Given the description of an element on the screen output the (x, y) to click on. 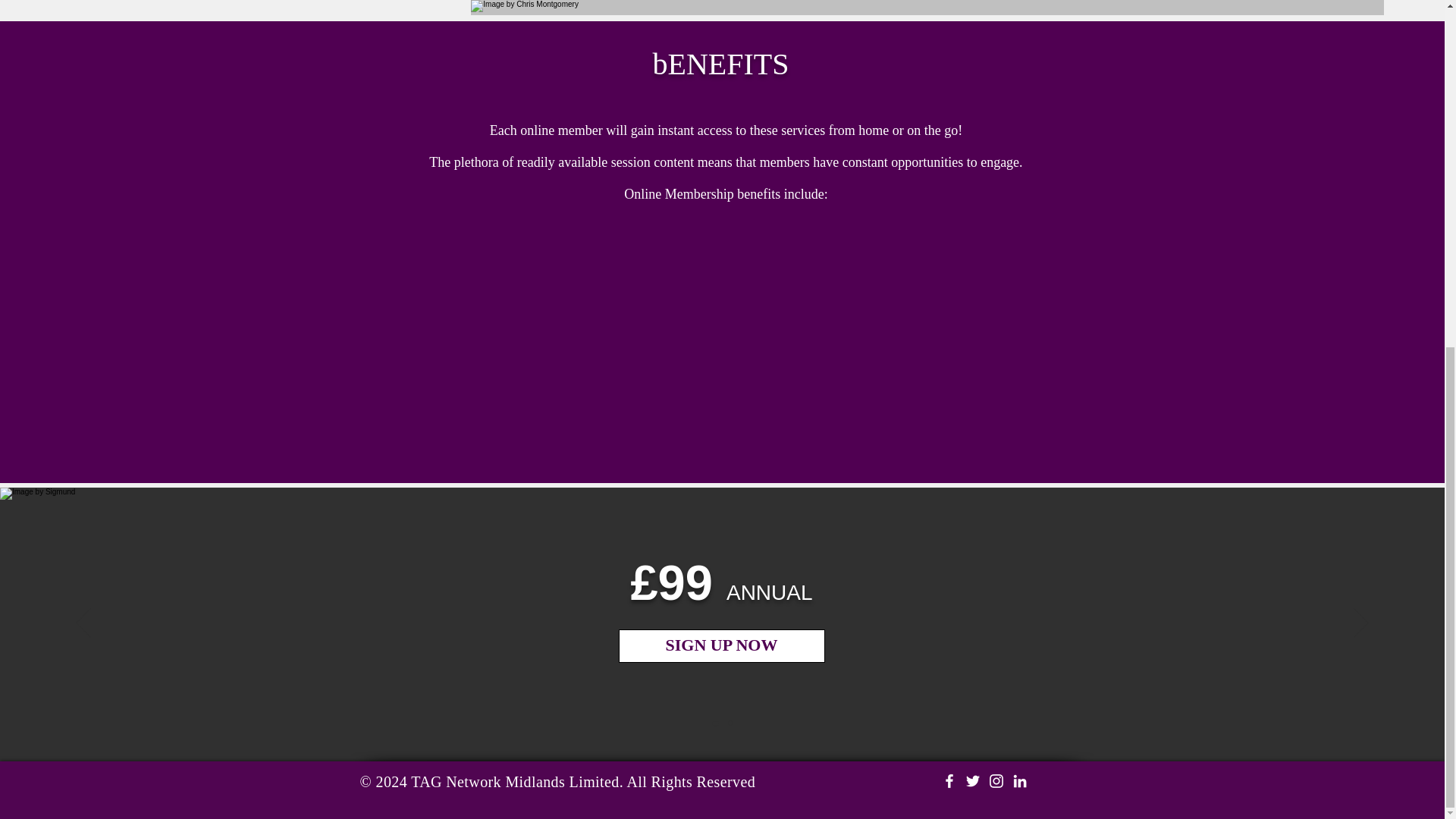
SIGN UP NOW (721, 644)
